Given the description of an element on the screen output the (x, y) to click on. 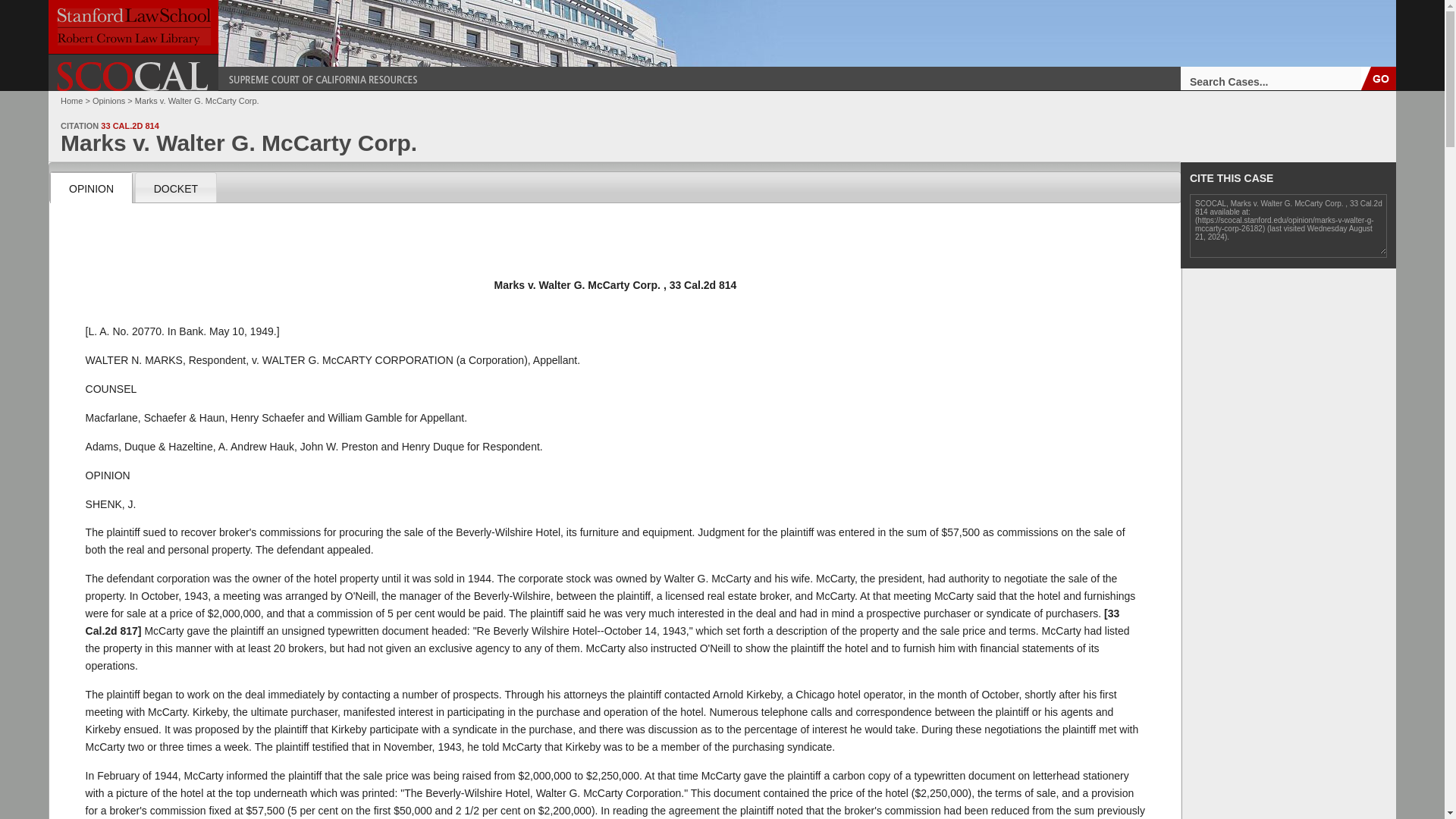
Supreme Court of California (133, 76)
Home (71, 100)
Stanford Law School - Robert Crown Law Library (133, 27)
Search (1378, 78)
Search Cases... (1270, 78)
Search Cases... (1270, 78)
Search (1378, 78)
OPINION (91, 187)
DOCKET (175, 187)
Opinions (109, 100)
